Given the description of an element on the screen output the (x, y) to click on. 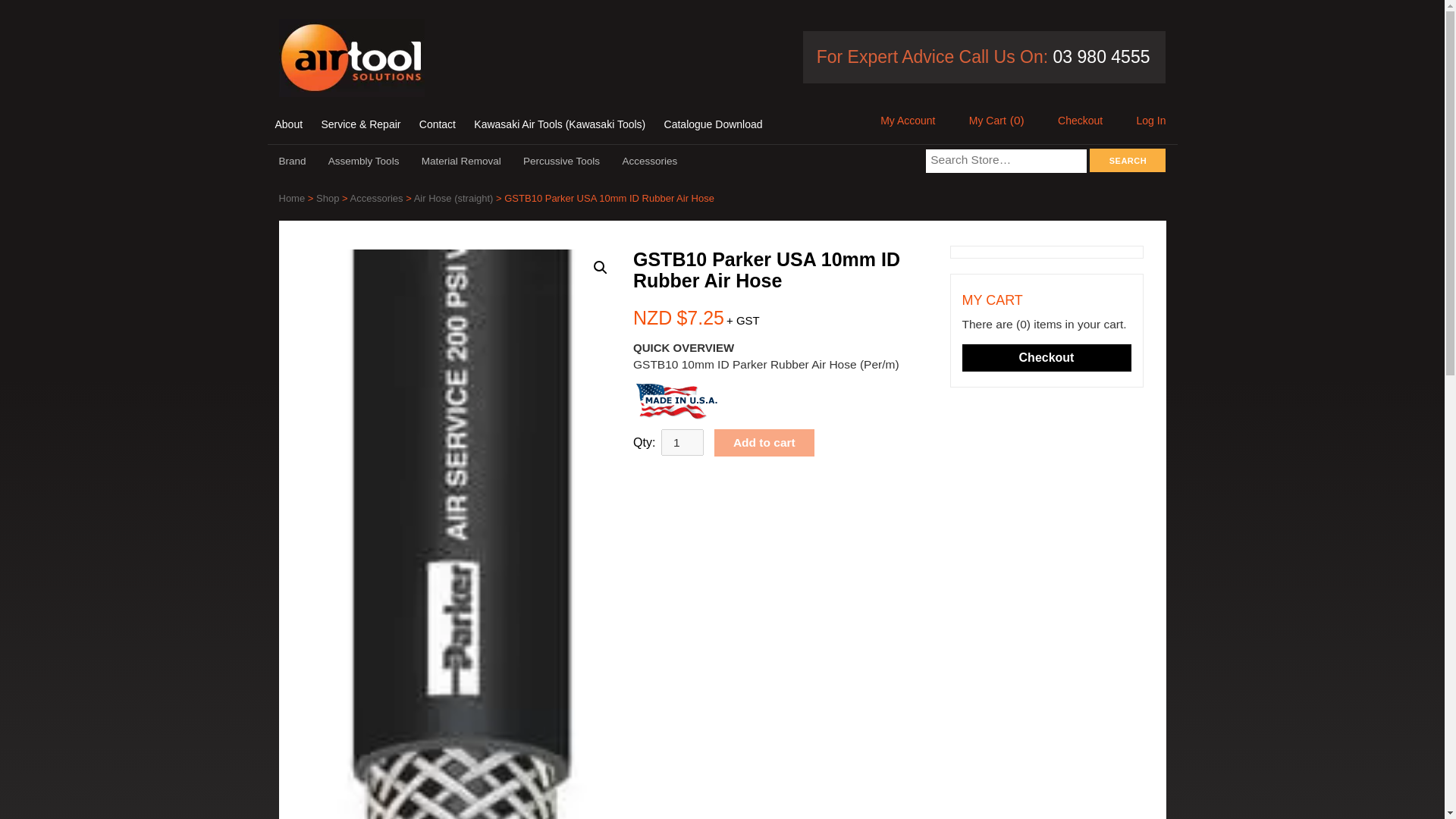
Log In (1151, 120)
About (288, 123)
Search (1127, 159)
1 (682, 442)
Search for: (1006, 160)
Contact (437, 123)
Search (1127, 159)
Checkout (1080, 120)
03 980 4555 (1099, 56)
Brand (294, 160)
My Account (907, 120)
Catalogue Download (713, 123)
My Cart (987, 120)
